Given the description of an element on the screen output the (x, y) to click on. 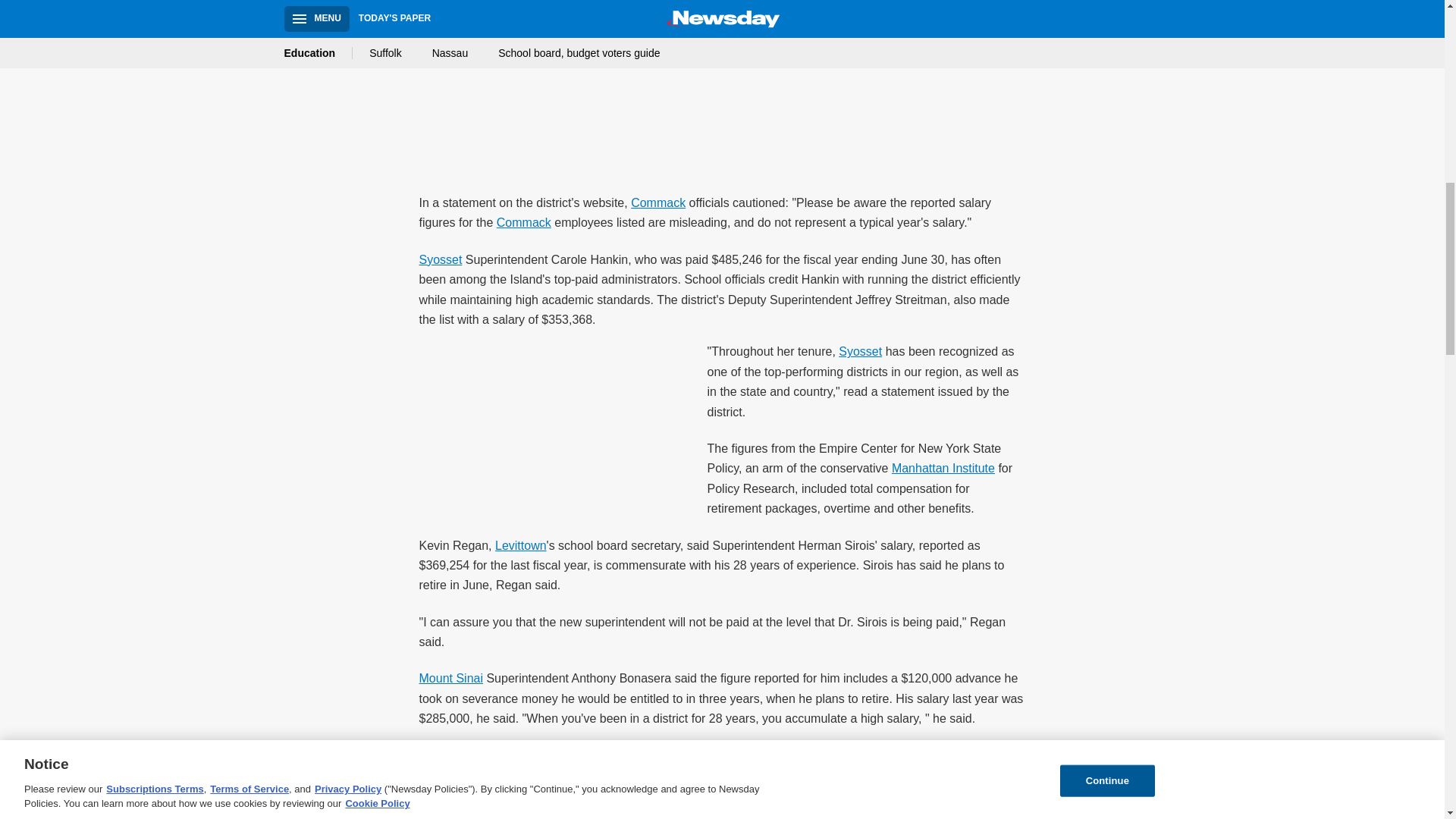
3rd party ad content (722, 82)
Manhattan Institute (942, 468)
Commack (657, 202)
Commack (523, 222)
Syosset (440, 259)
Syosset (860, 350)
